Given the description of an element on the screen output the (x, y) to click on. 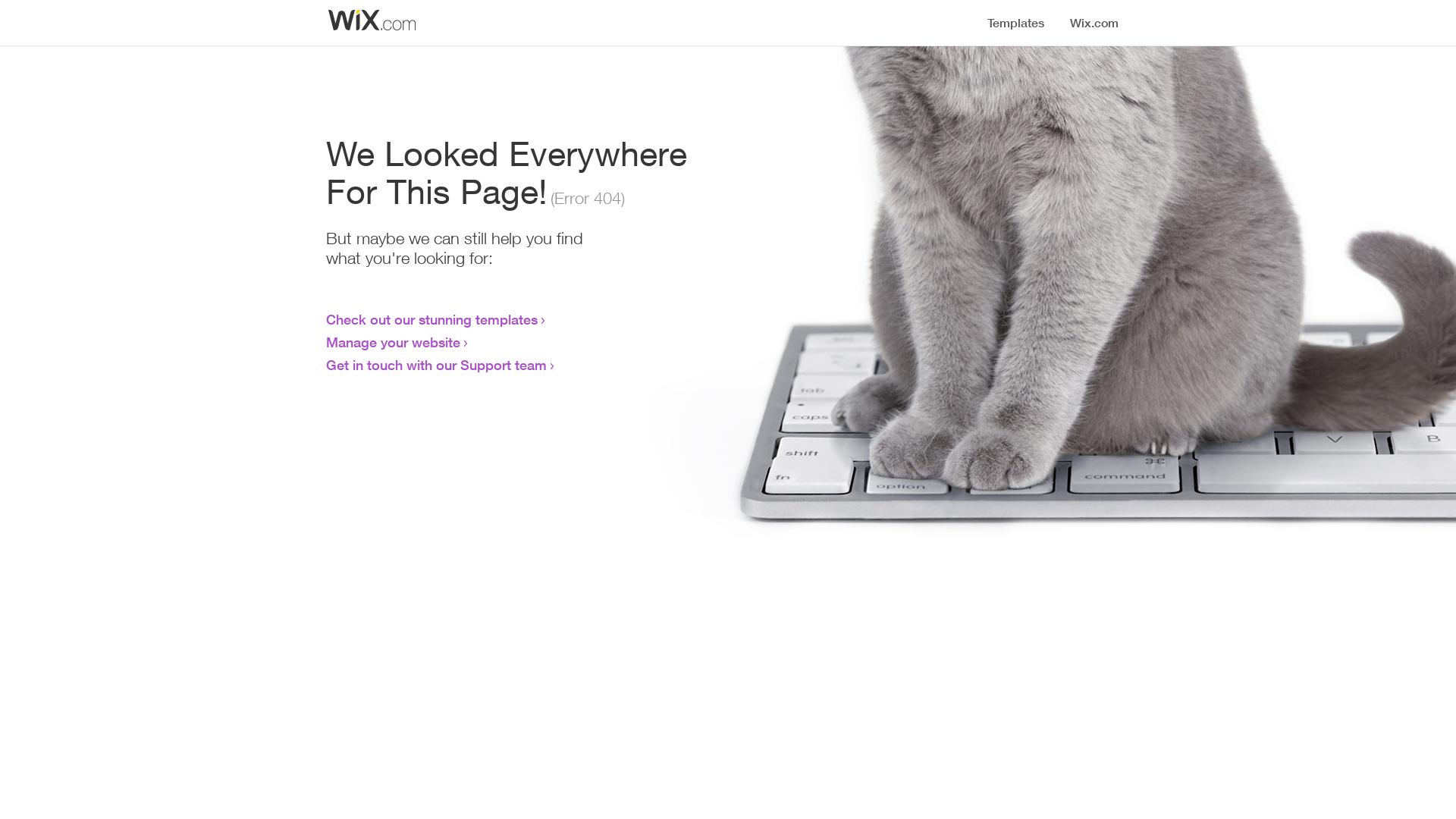
Check out our stunning templates Element type: text (431, 318)
Manage your website Element type: text (393, 341)
Get in touch with our Support team Element type: text (436, 364)
